Given the description of an element on the screen output the (x, y) to click on. 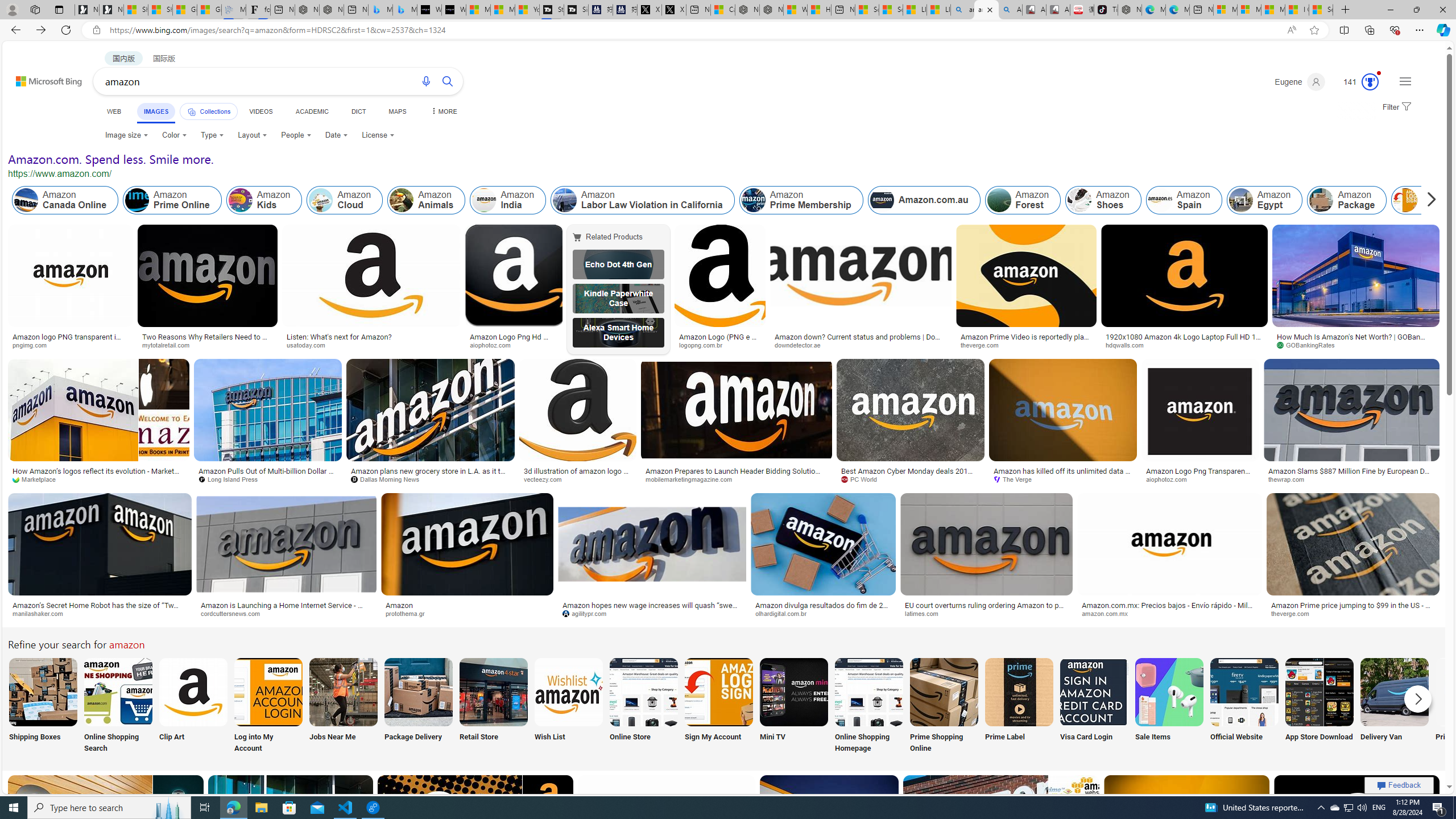
Amazon Retail Store (493, 691)
Amazon Jobs Near Me Jobs Near Me (342, 706)
Amazon.com.au (923, 199)
Scroll more suggestions right (1418, 698)
theverge.com (1294, 612)
Amazon Official Website Official Website (1243, 706)
ACADEMIC (311, 111)
I Gained 20 Pounds of Muscle in 30 Days! | Watch (1296, 9)
Amazon Sale Items Sale Items (1169, 706)
